Given the description of an element on the screen output the (x, y) to click on. 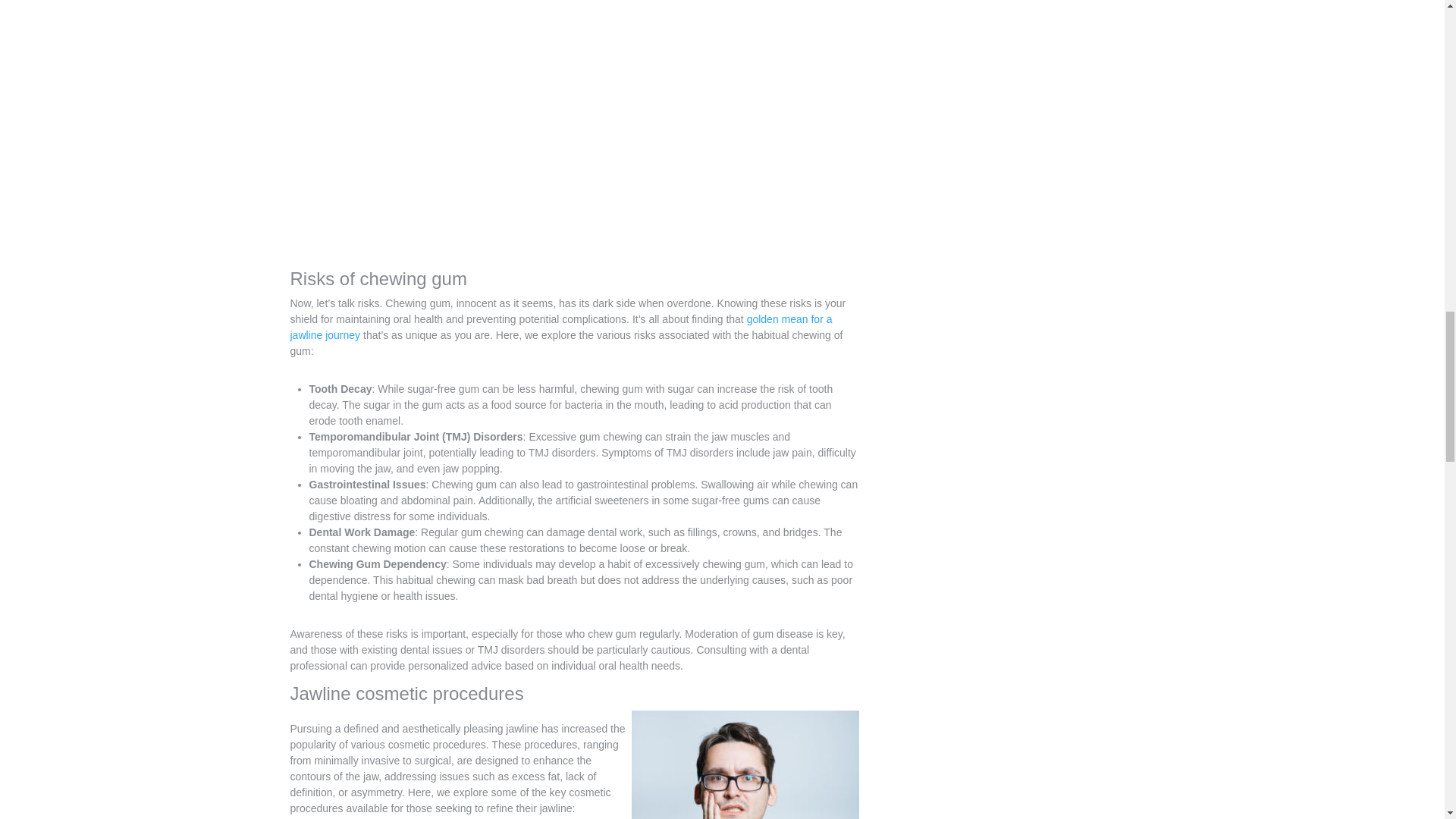
golden mean for a jawline journey (560, 330)
